Given the description of an element on the screen output the (x, y) to click on. 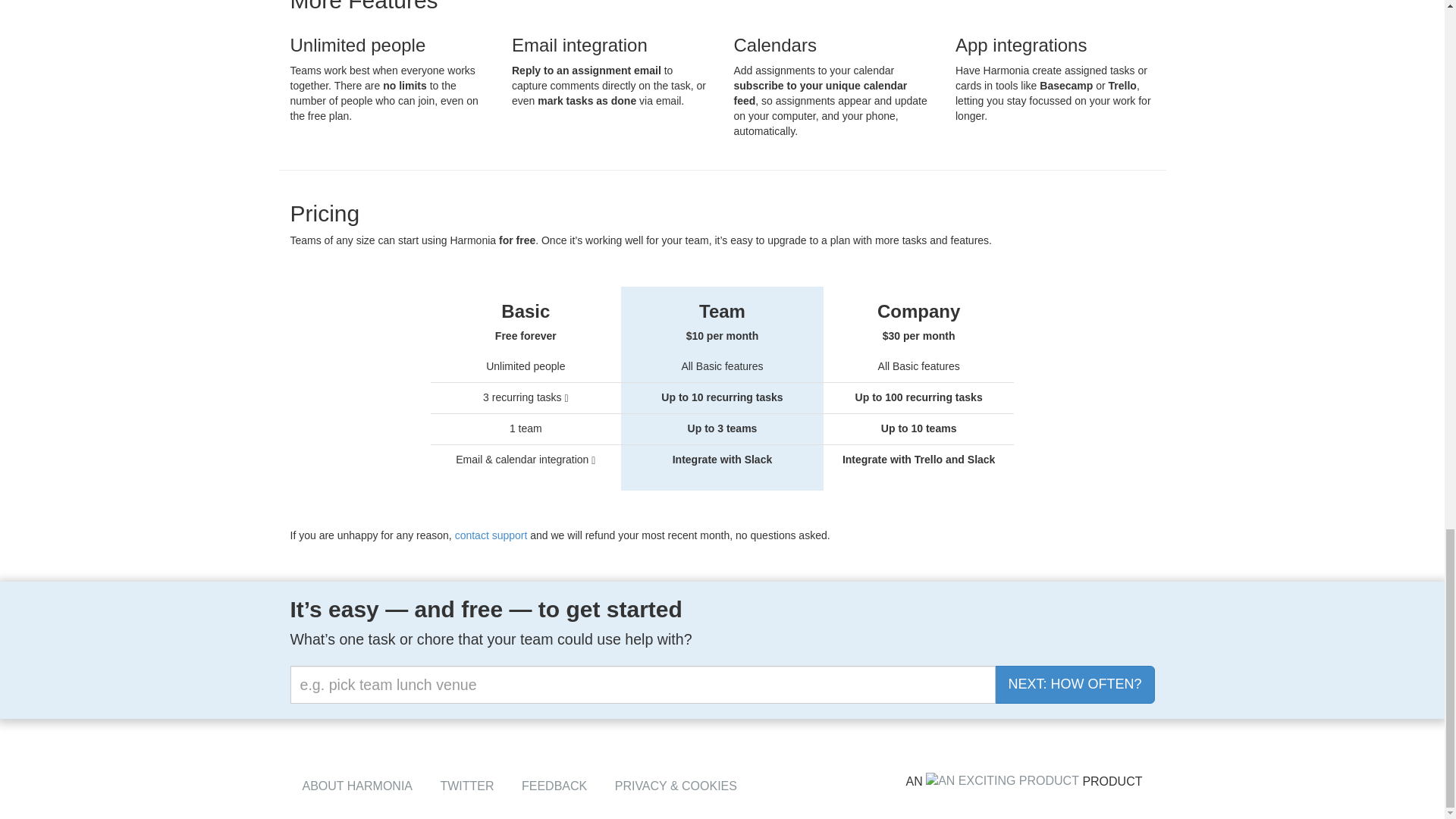
TWITTER (466, 785)
NEXT: HOW OFTEN? (1074, 684)
contact support (490, 535)
ABOUT HARMONIA (356, 785)
FEEDBACK (553, 785)
